Given the description of an element on the screen output the (x, y) to click on. 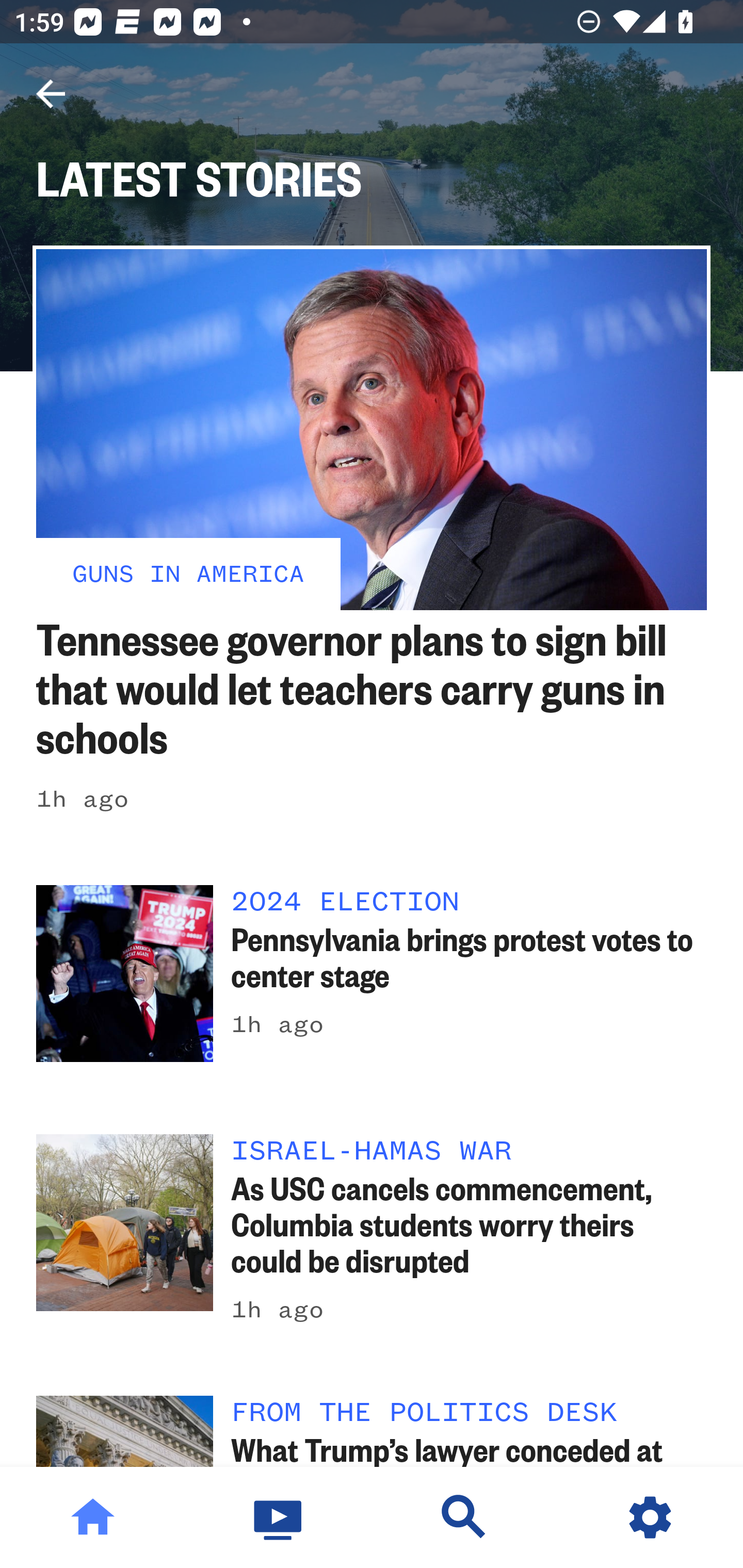
Navigate up (50, 93)
Watch (278, 1517)
Discover (464, 1517)
Settings (650, 1517)
